Given the description of an element on the screen output the (x, y) to click on. 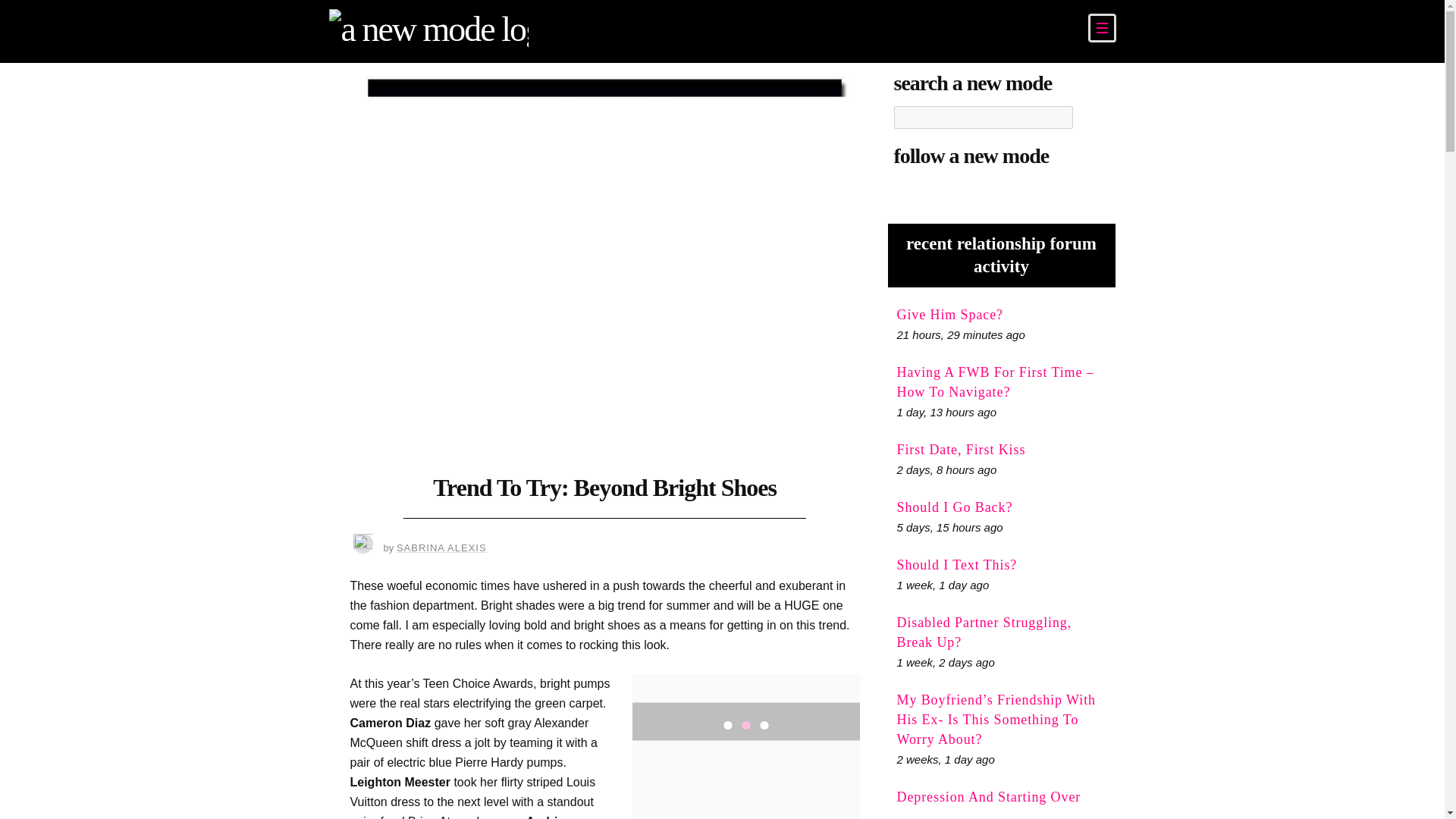
SABRINA ALEXIS (441, 547)
Search (1091, 117)
Search (1091, 117)
